Given the description of an element on the screen output the (x, y) to click on. 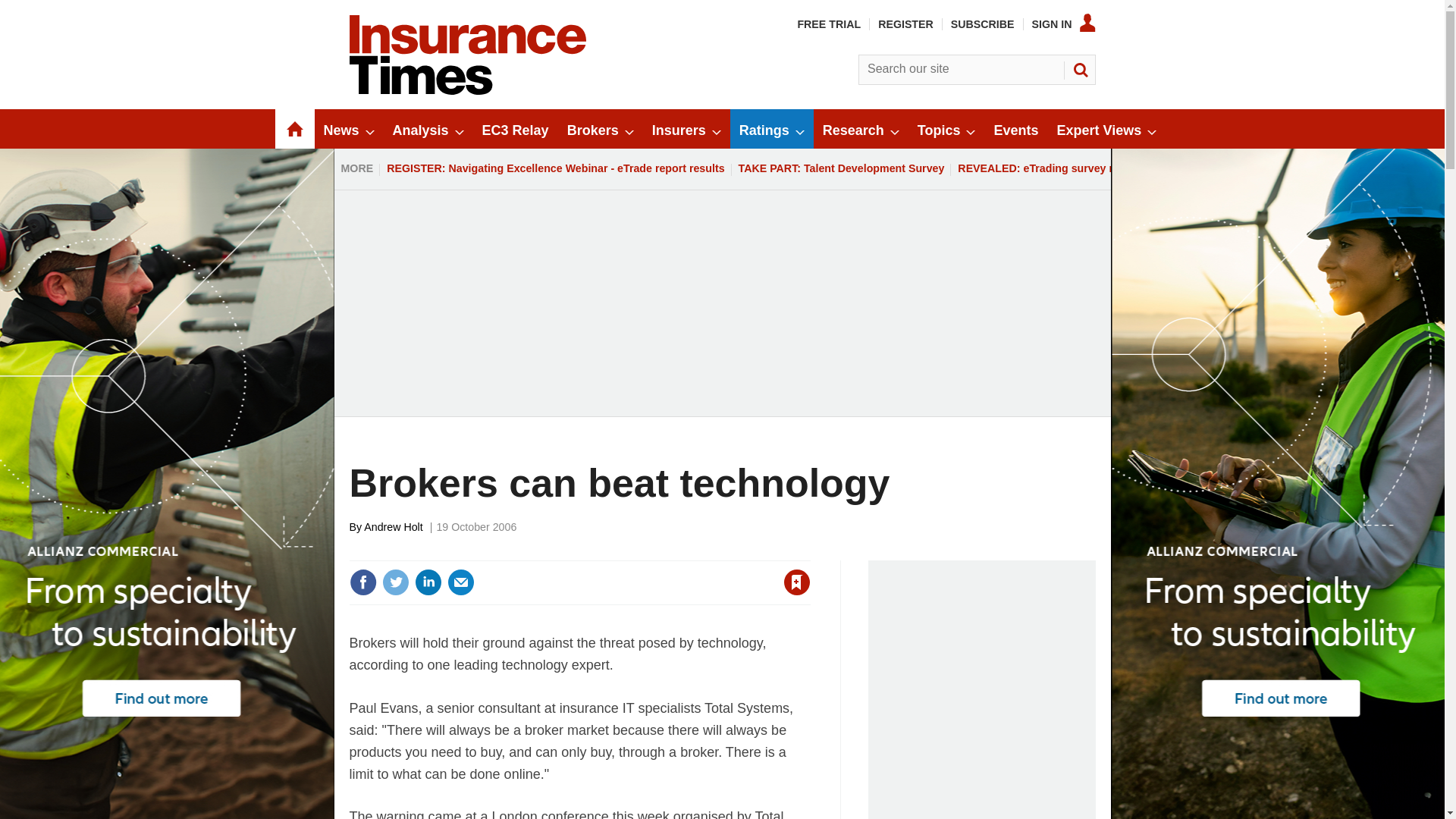
Share this on Facebook (362, 582)
Email this article (460, 582)
SEARCH (1079, 69)
Insert Logo text (467, 90)
Share this on Linked in (427, 582)
SUBSCRIBE (982, 24)
TAKE PART: Talent Development Survey (842, 168)
Share this on Twitter (395, 582)
REGISTER (905, 24)
REVEALED: eTrading survey results (1050, 168)
SIGN IN (1064, 24)
FREE TRIAL (828, 24)
